Given the description of an element on the screen output the (x, y) to click on. 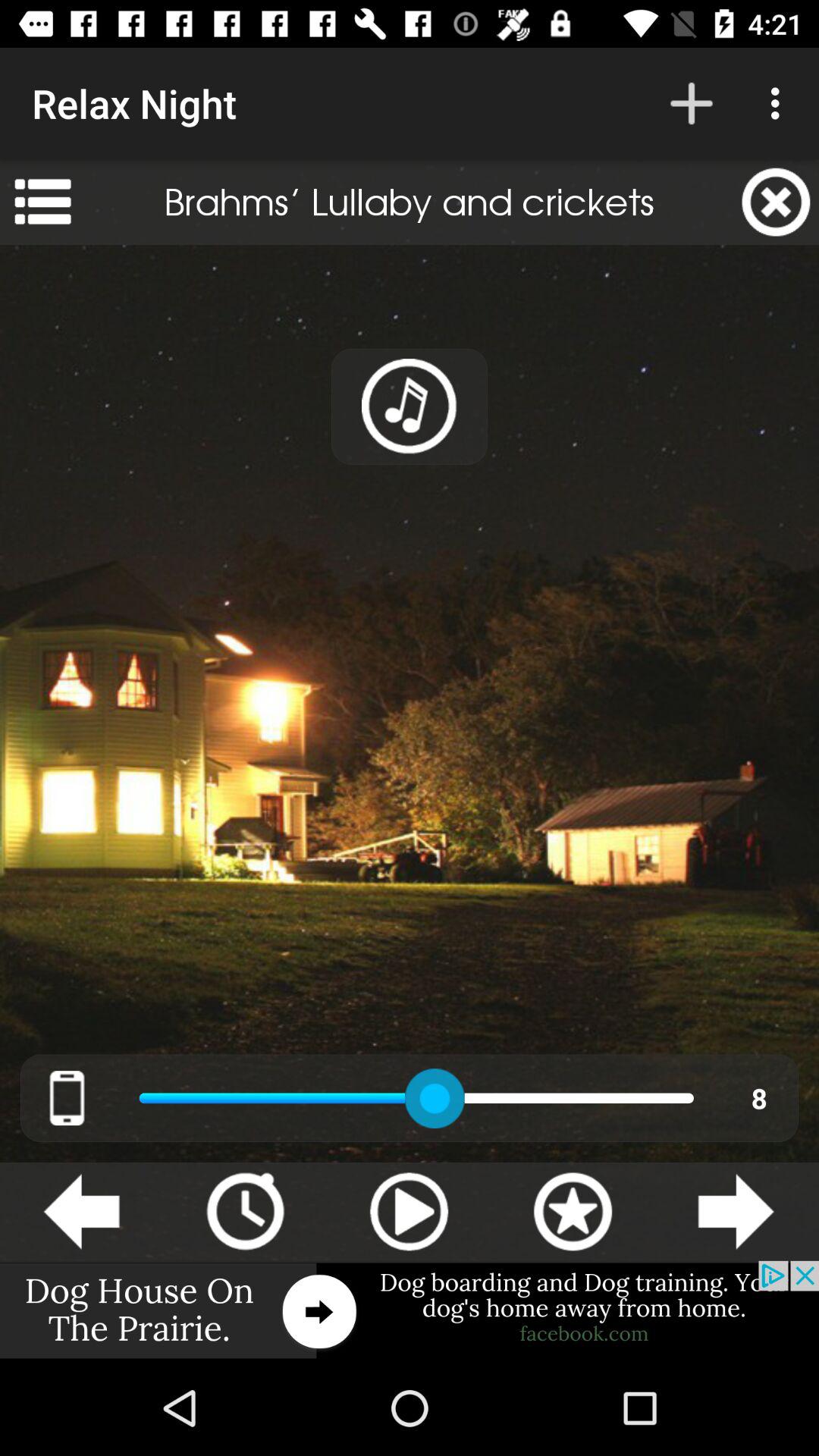
turn on app next to the brahms lullaby and item (42, 202)
